Given the description of an element on the screen output the (x, y) to click on. 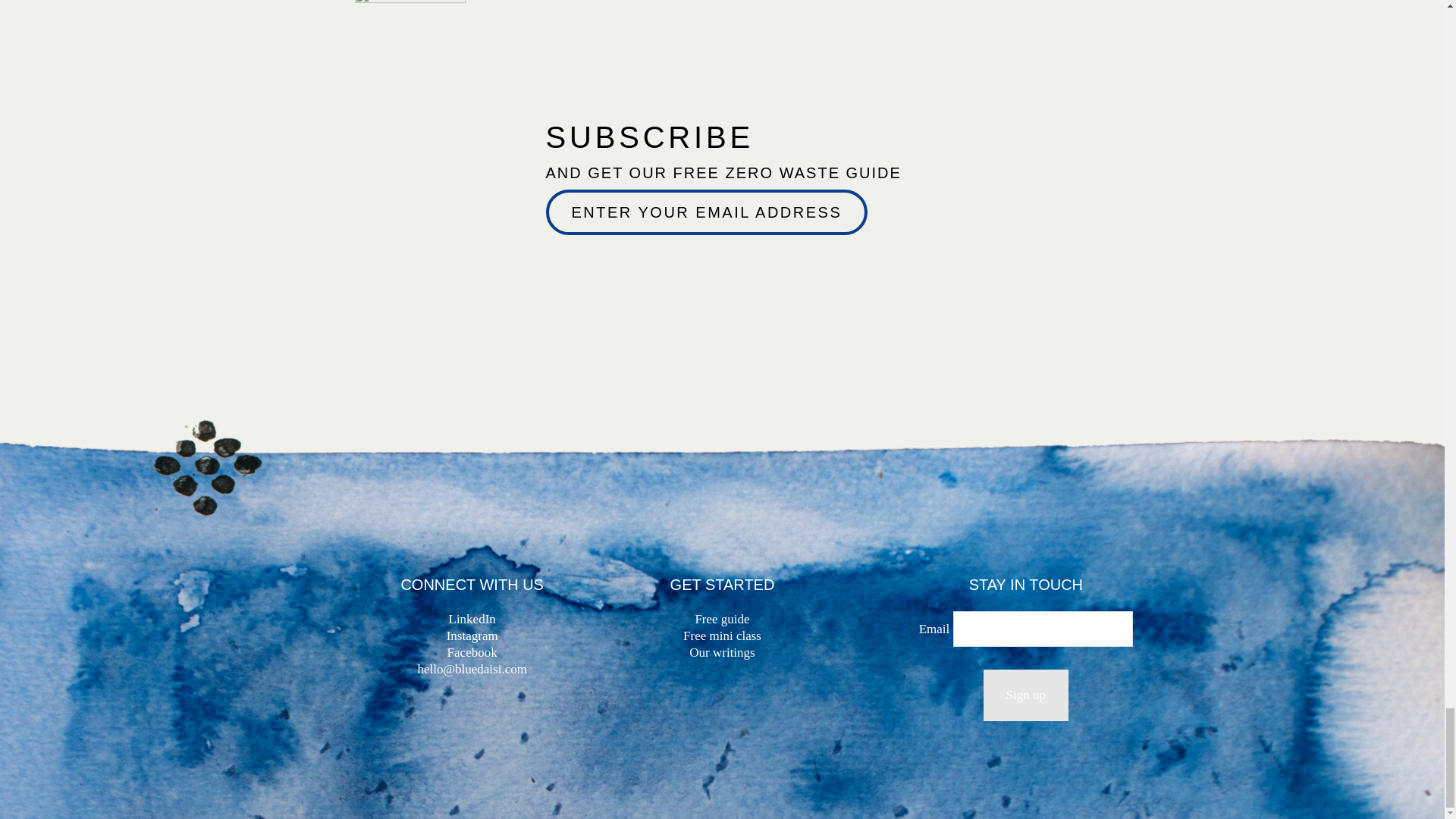
Sign up (1026, 695)
